Given the description of an element on the screen output the (x, y) to click on. 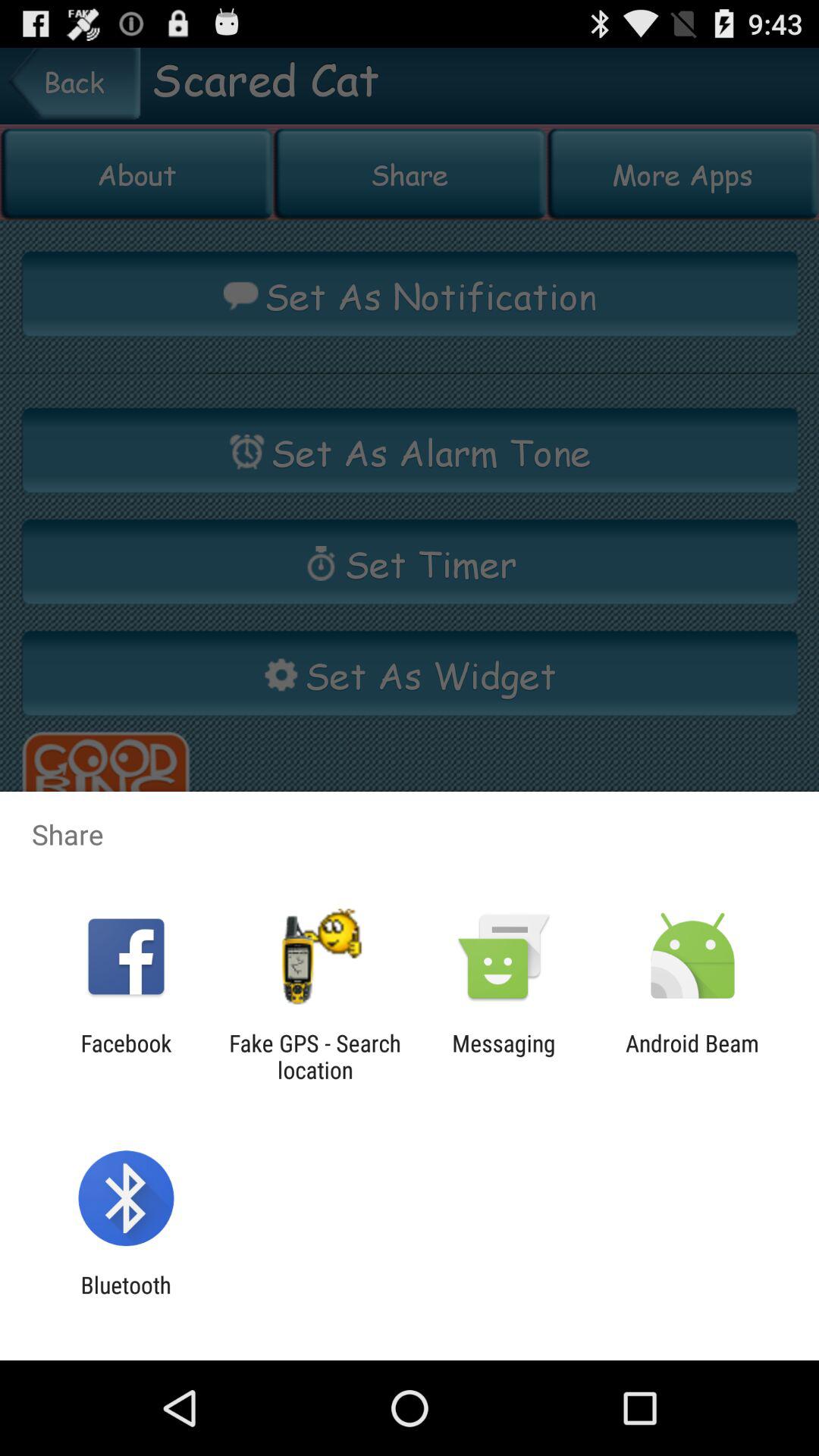
swipe until the android beam item (692, 1056)
